Given the description of an element on the screen output the (x, y) to click on. 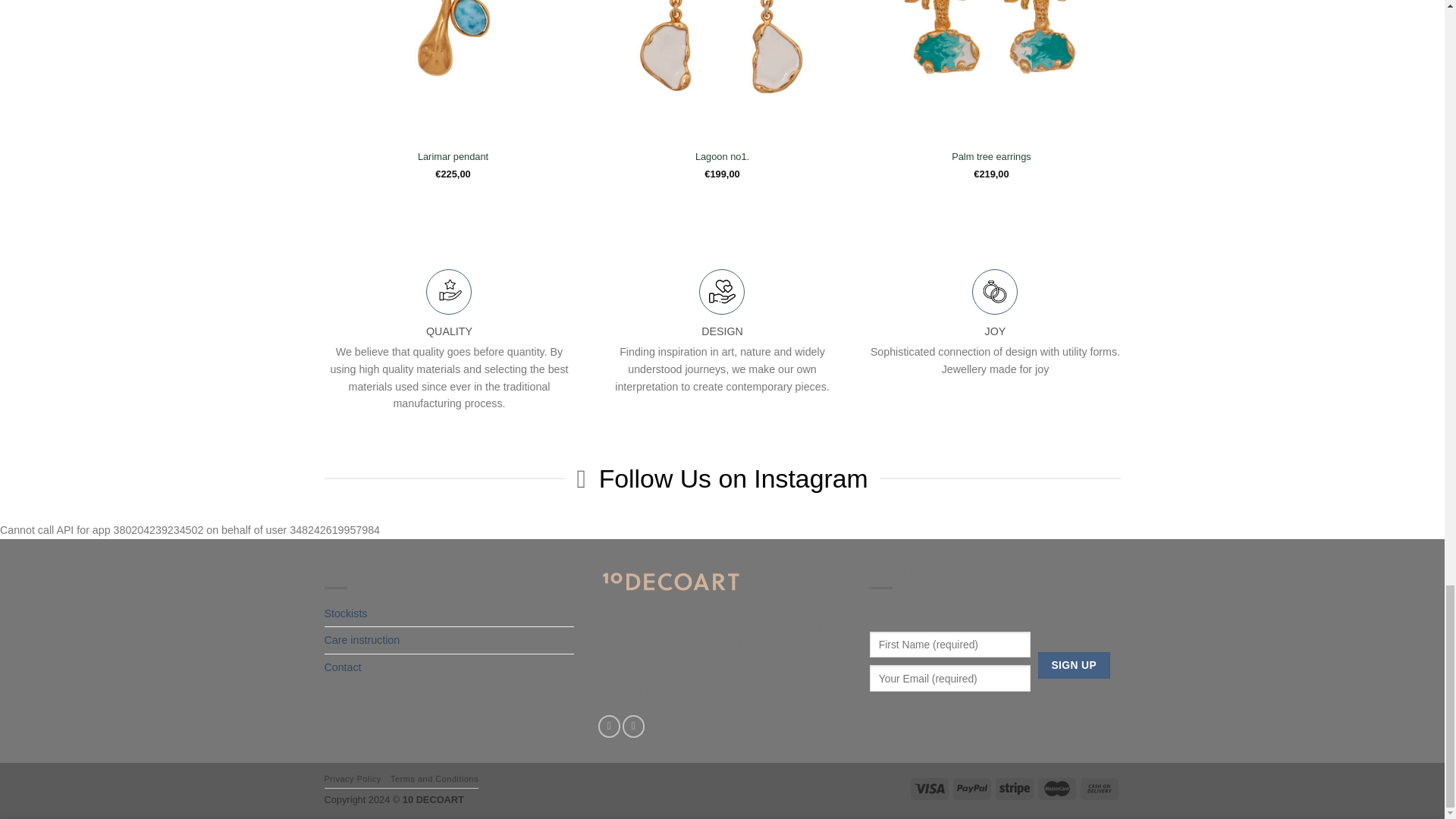
Larimar pendant (452, 156)
Sign Up (1073, 664)
Follow on Instagram (609, 725)
Send us an email (634, 725)
